Given the description of an element on the screen output the (x, y) to click on. 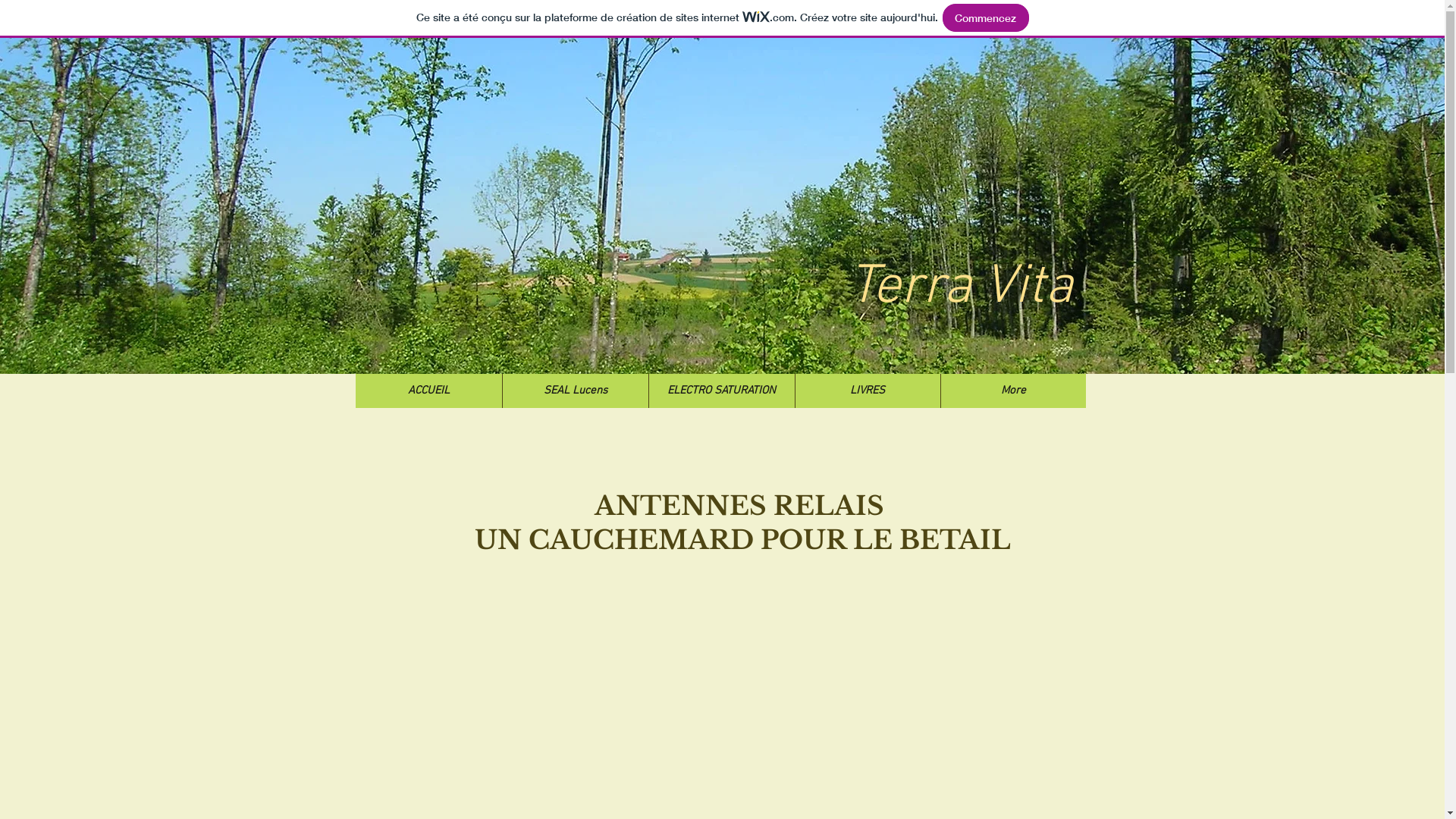
ACCUEIL Element type: text (427, 390)
ELECTRO SATURATION Element type: text (720, 390)
LIVRES Element type: text (867, 390)
SEAL Lucens Element type: text (575, 390)
